Given the description of an element on the screen output the (x, y) to click on. 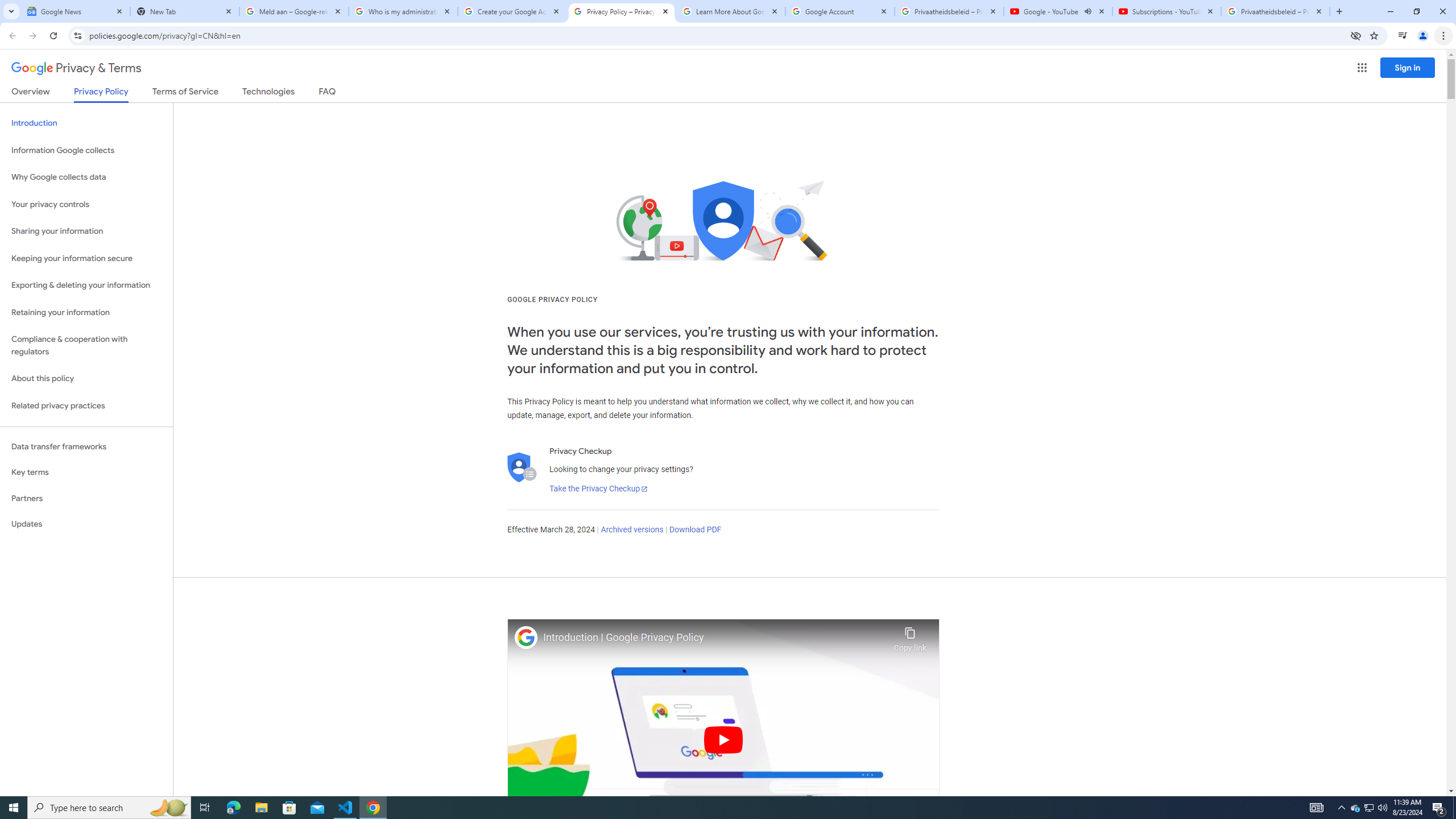
Information Google collects (86, 150)
Updates (86, 524)
Who is my administrator? - Google Account Help (403, 11)
Copy link (909, 636)
Introduction (86, 122)
New Tab (184, 11)
Introduction | Google Privacy Policy (715, 637)
Exporting & deleting your information (86, 284)
